Given the description of an element on the screen output the (x, y) to click on. 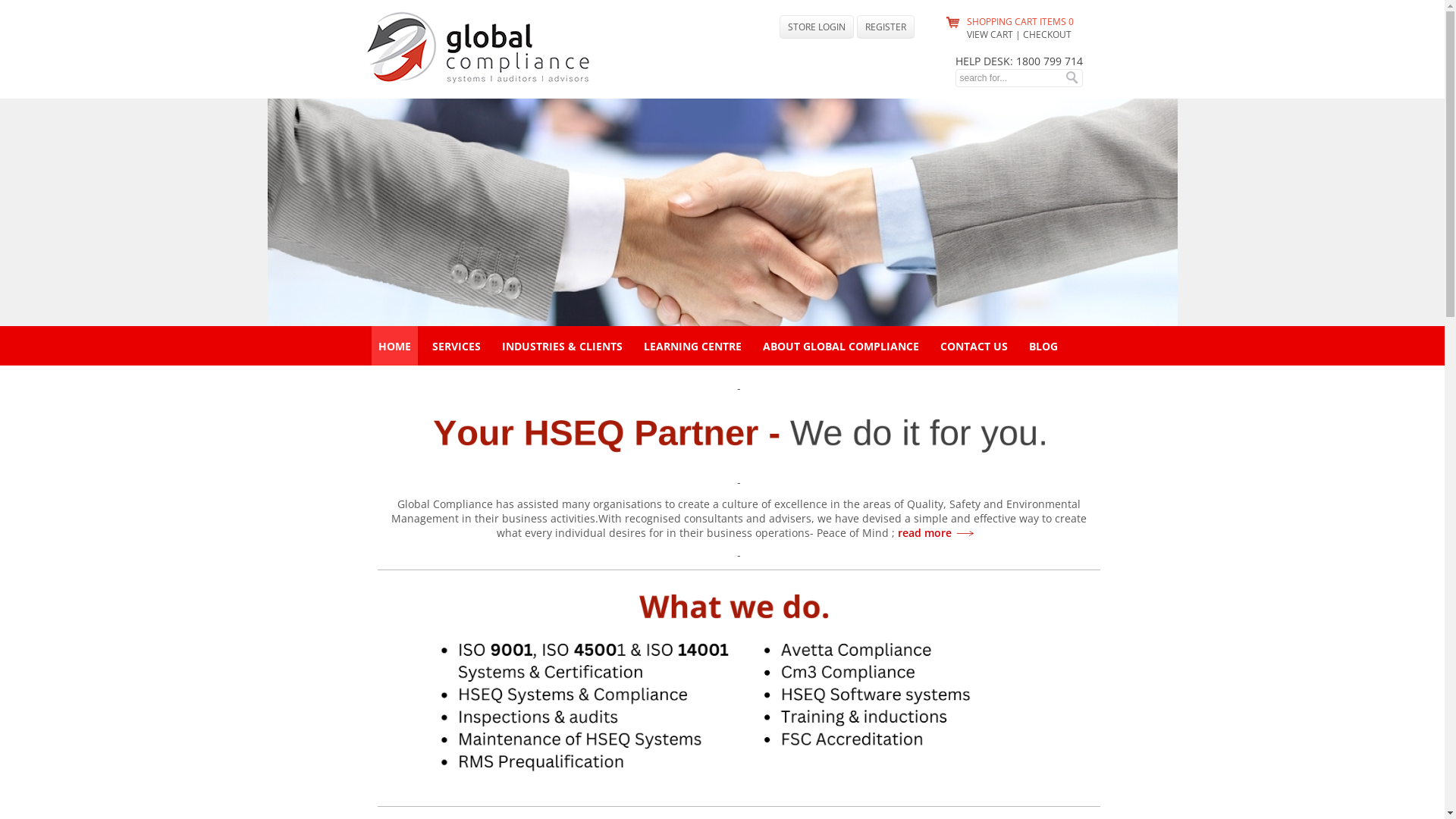
SERVICES Element type: text (456, 346)
STORE LOGIN Element type: text (816, 26)
INDUSTRIES & CLIENTS Element type: text (562, 346)
search Element type: text (1070, 77)
ABOUT GLOBAL COMPLIANCE Element type: text (840, 346)
CHECKOUT Element type: text (1046, 34)
HOME Element type: text (394, 346)
search for... Element type: text (1009, 77)
BLOG Element type: text (1043, 346)
read more   Element type: text (937, 532)
CONTACT US Element type: text (973, 346)
REGISTER Element type: text (885, 26)
LEARNING CENTRE Element type: text (692, 346)
VIEW CART Element type: text (989, 34)
